Given the description of an element on the screen output the (x, y) to click on. 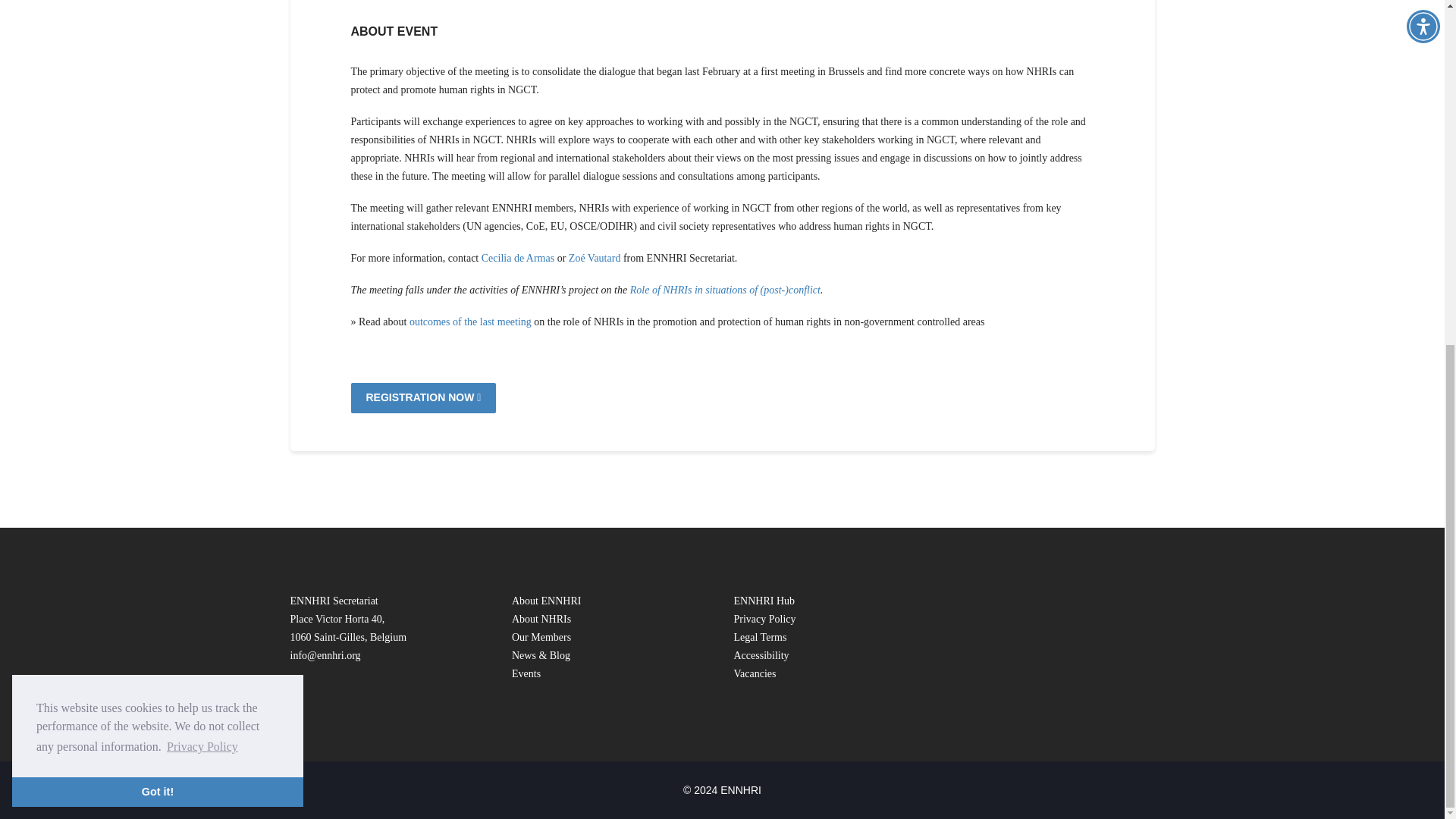
Privacy Policy (202, 156)
Got it! (156, 201)
